Given the description of an element on the screen output the (x, y) to click on. 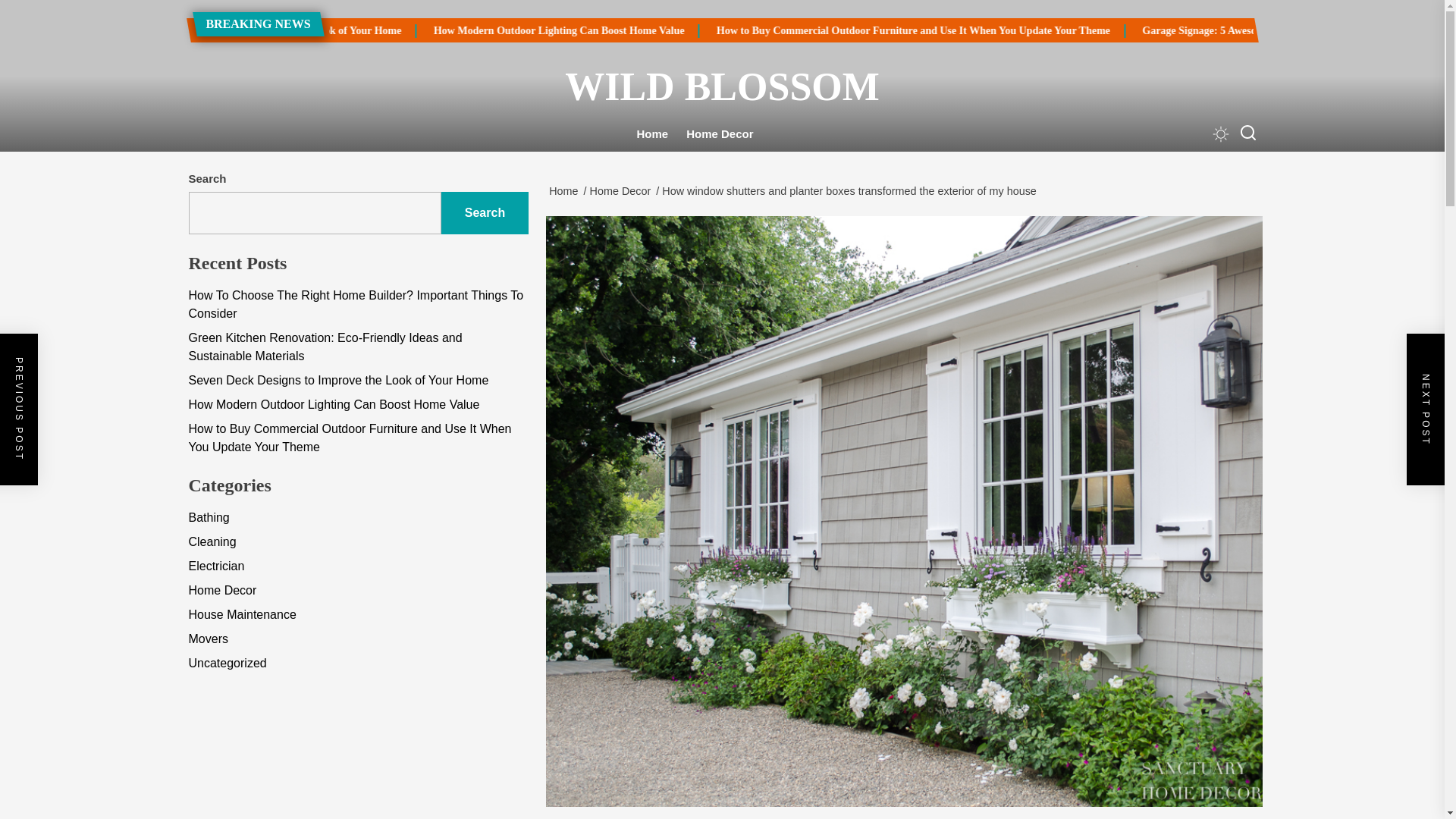
Garage Signage: 5 Awesome Ideas (1328, 30)
Seven Deck Designs to Improve the Look of Your Home (390, 30)
How Modern Outdoor Lighting Can Boost Home Value (672, 30)
How Modern Outdoor Lighting Can Boost Home Value (745, 30)
Home (652, 134)
Home (566, 191)
Home Decor (719, 134)
Home Decor (622, 191)
Seven Deck Designs to Improve the Look of Your Home (464, 30)
WILD BLOSSOM (721, 86)
